Given the description of an element on the screen output the (x, y) to click on. 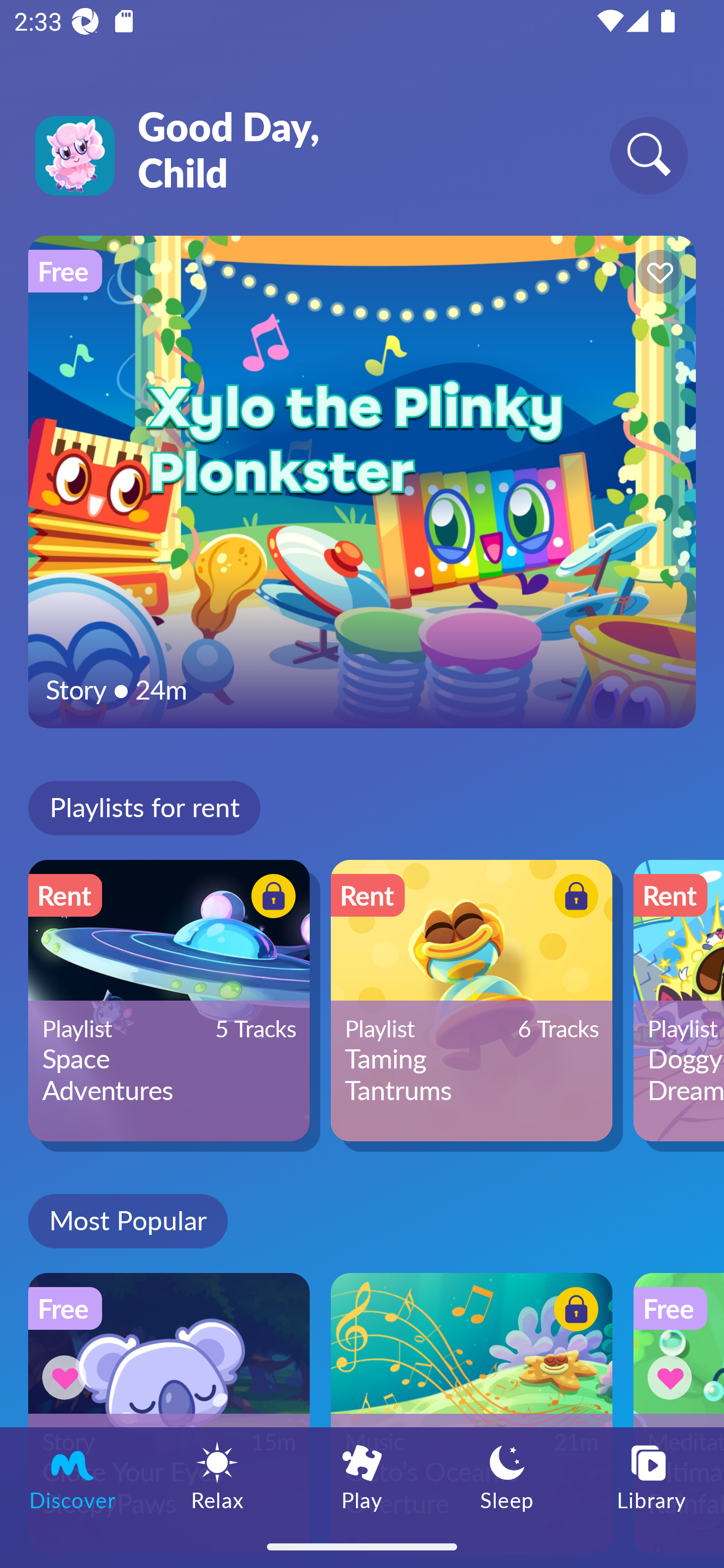
Search (648, 154)
Featured Content Free Button Story ● 24m (361, 481)
Button (656, 274)
Button (269, 898)
Button (573, 898)
Button (573, 1312)
Button (67, 1377)
Button (672, 1377)
Relax (216, 1475)
Play (361, 1475)
Sleep (506, 1475)
Library (651, 1475)
